Given the description of an element on the screen output the (x, y) to click on. 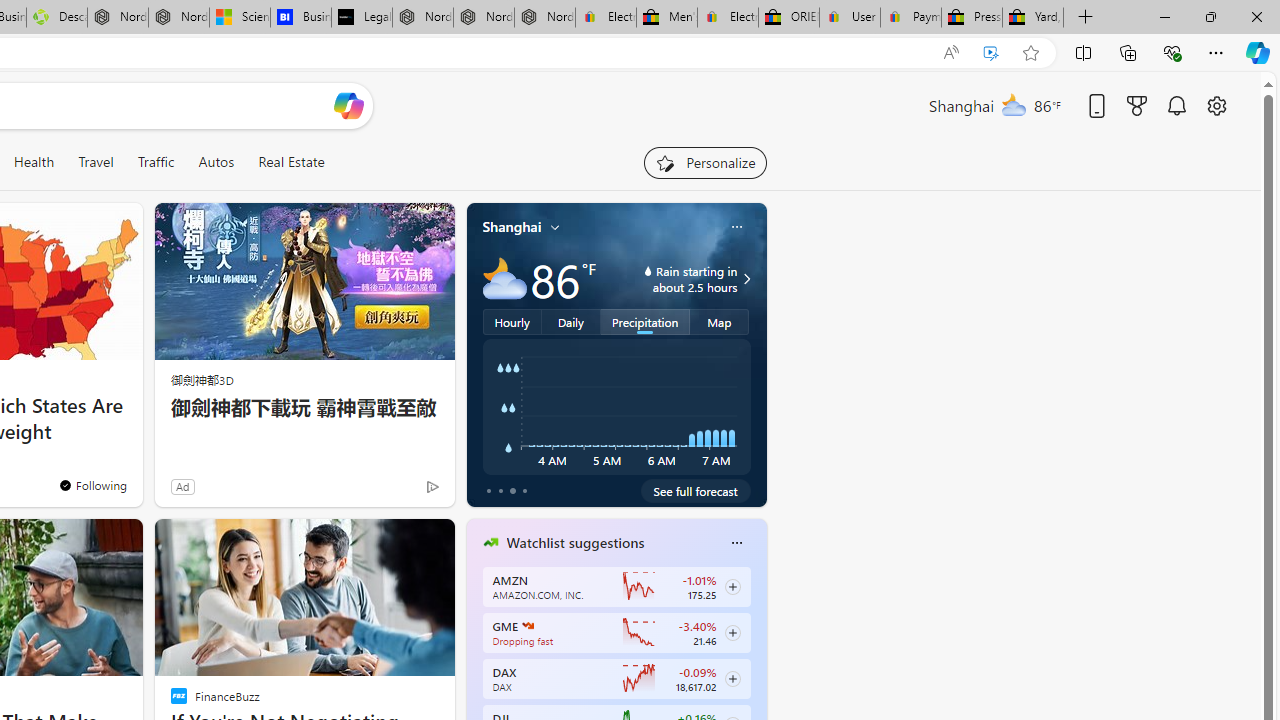
Real Estate (290, 162)
Personalize your feed" (704, 162)
Class: weather-arrow-glyph (746, 278)
Mostly cloudy (504, 278)
Travel (95, 162)
Hide this story (393, 542)
next (756, 670)
Traffic (155, 162)
